Given the description of an element on the screen output the (x, y) to click on. 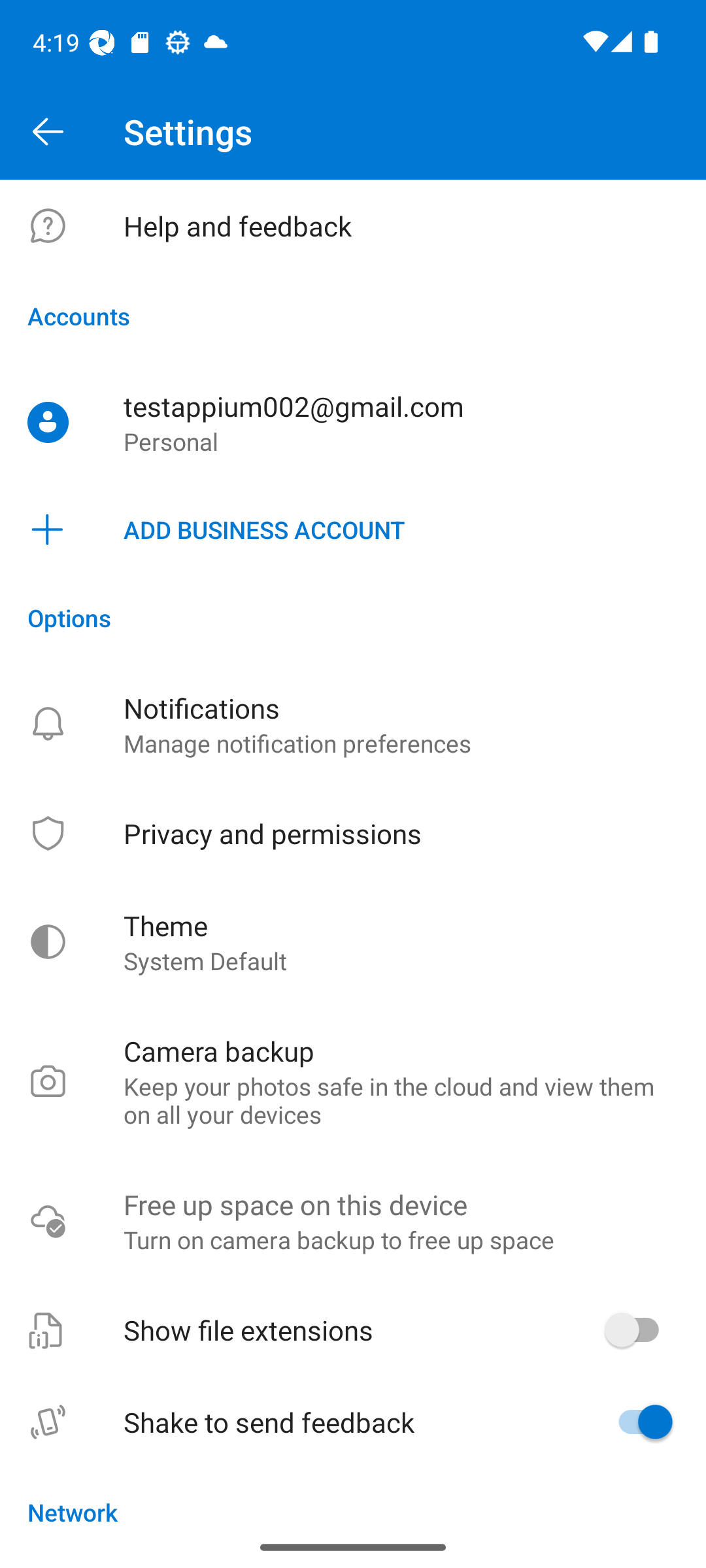
Navigate up Settings (353, 131)
Navigate up (48, 131)
Help and feedback (353, 225)
Accounts (353, 315)
testappium002@gmail.com Personal (353, 423)
ADD BUSINESS ACCOUNT (353, 529)
Options (353, 617)
Notifications Manage notification preferences (353, 724)
Privacy and permissions (353, 833)
Theme System Default (353, 942)
Show file extensions (353, 1330)
Shake to send feedback (353, 1421)
Network (353, 1497)
